Given the description of an element on the screen output the (x, y) to click on. 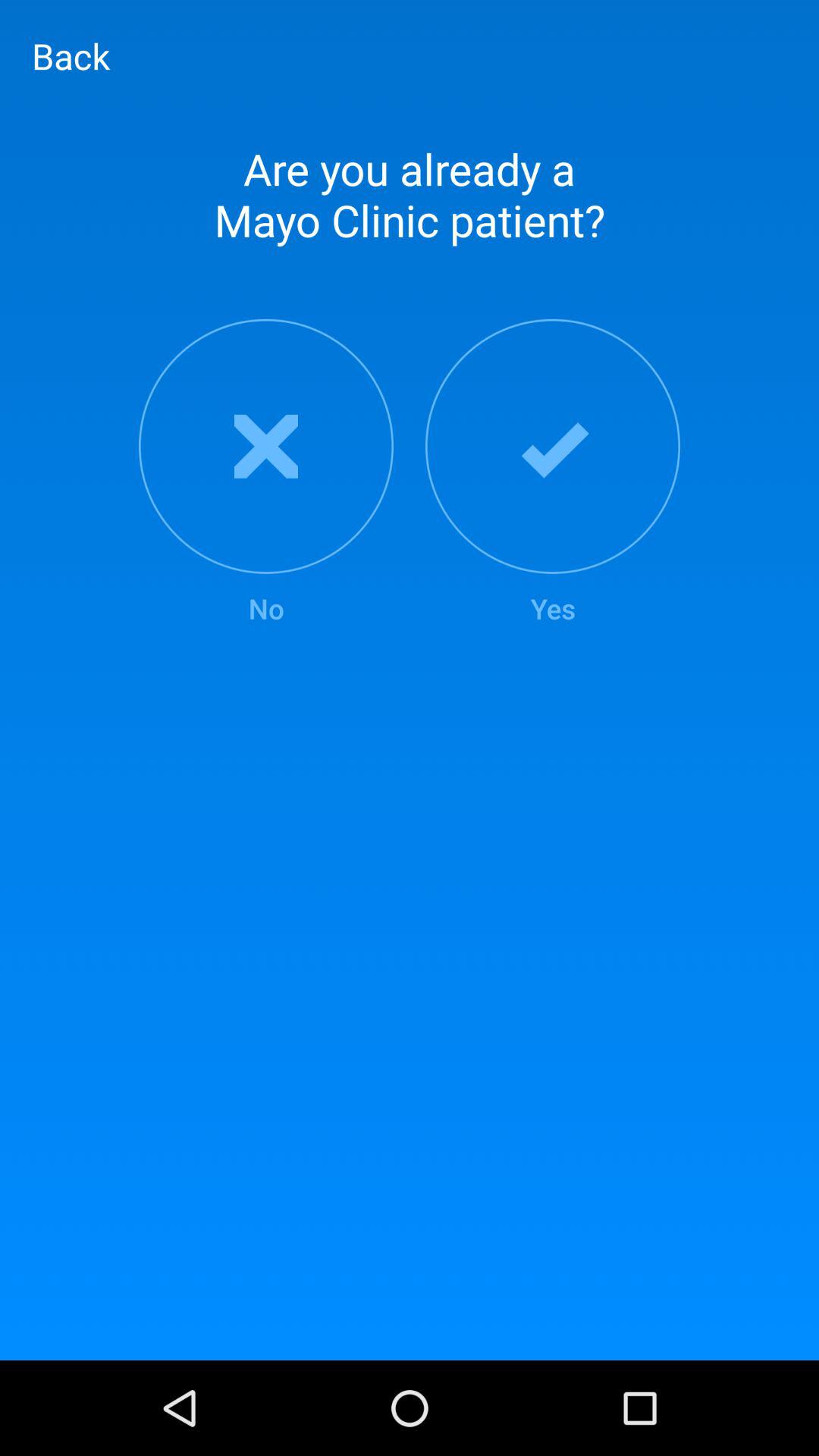
click back (70, 55)
